Given the description of an element on the screen output the (x, y) to click on. 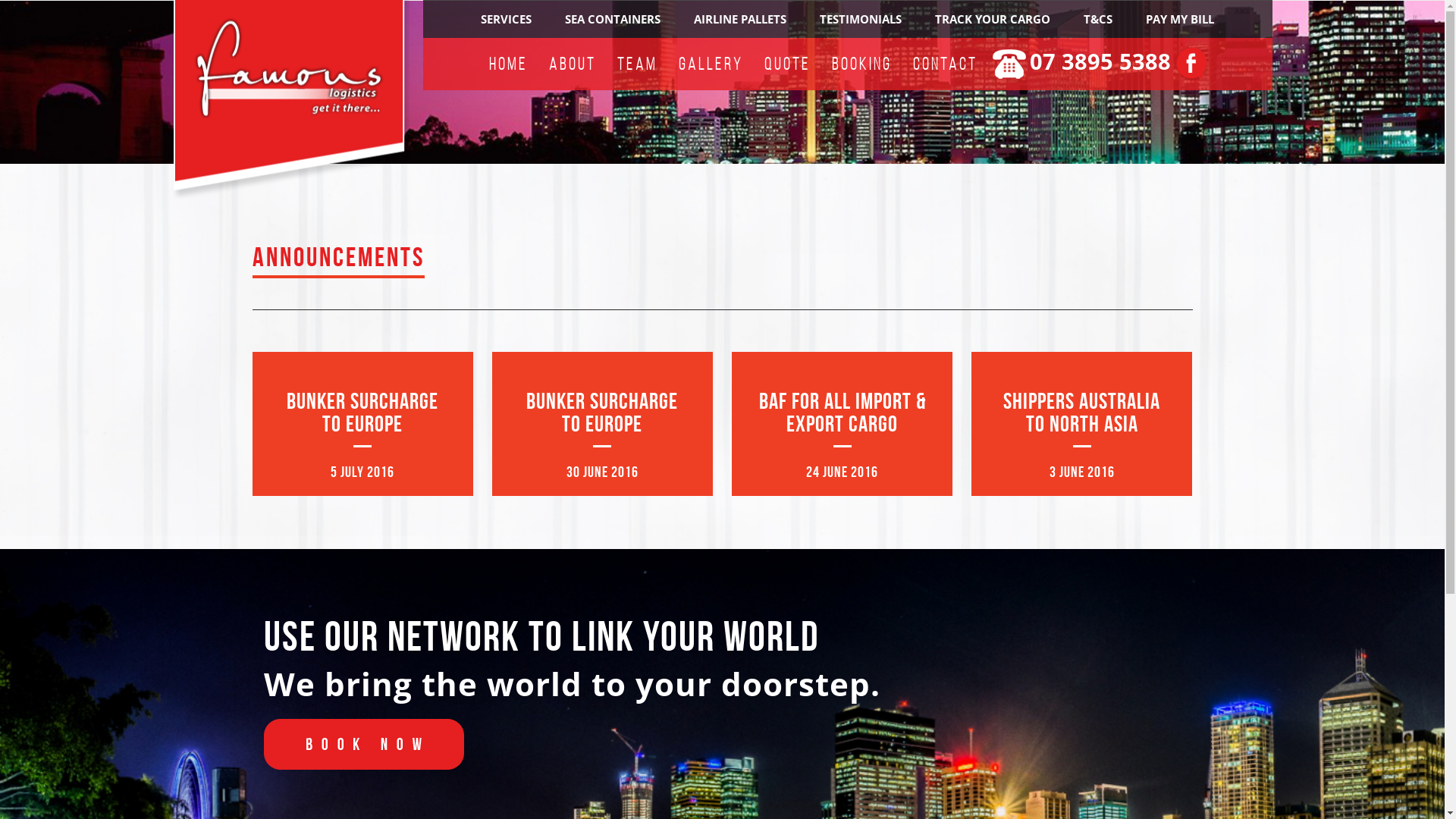
3 JUNE 2016 Element type: text (1081, 468)
T&CS Element type: text (1097, 18)
BUNKER SURCHARGE
TO EUROPE Element type: text (601, 412)
BAF FOR ALL IMPORT & EXPORT CARGO Element type: text (842, 412)
TESTIMONIALS Element type: text (860, 18)
BOOKING Element type: text (864, 63)
TEAM Element type: text (639, 63)
BUNKER SURCHARGE
TO EUROPE Element type: text (362, 412)
QUOTE Element type: text (789, 63)
PAY MY BILL Element type: text (1179, 18)
TRACK YOUR CARGO Element type: text (992, 18)
HOME Element type: text (510, 63)
F Element type: text (1192, 63)
07 3895 5388 Element type: text (1099, 60)
24 JUNE 2016 Element type: text (842, 468)
30 JUNE 2016 Element type: text (602, 468)
AIRLINE PALLETS Element type: text (739, 18)
5 JULY 2016 Element type: text (362, 468)
GALLERY Element type: text (712, 63)
SEA CONTAINERS Element type: text (612, 18)
SERVICES Element type: text (505, 18)
SHIPPERS AUSTRALIA
TO NORTH ASIA Element type: text (1081, 412)
ABOUT Element type: text (574, 63)
CONTACT Element type: text (947, 63)
